Given the description of an element on the screen output the (x, y) to click on. 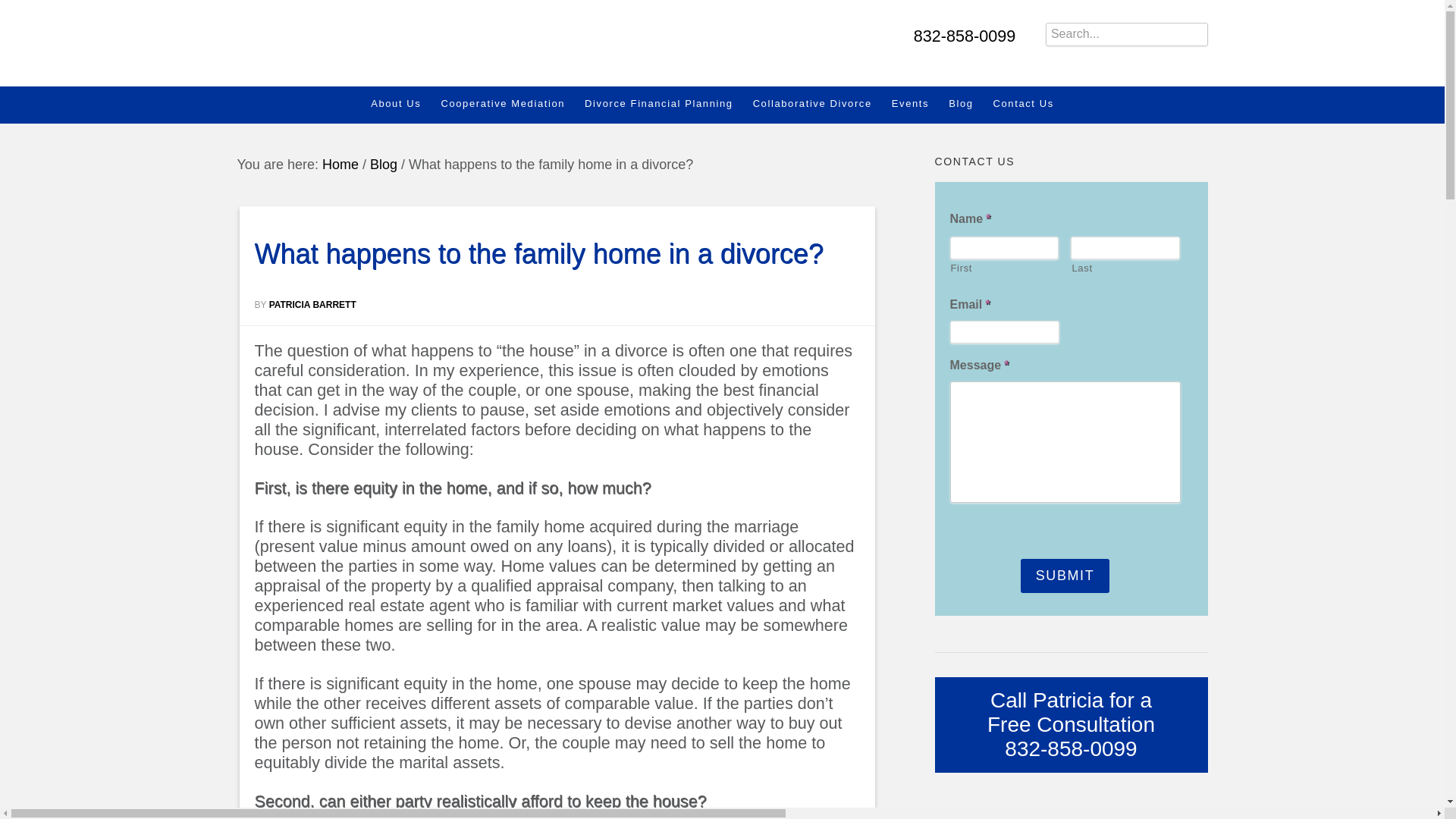
Collaborative Divorce (821, 103)
Blog (383, 164)
Events (920, 103)
832-858-0099 (964, 35)
Submit (1064, 575)
Lifetime Planning (408, 38)
Cooperative Mediation (513, 103)
Blog (970, 103)
Home (339, 164)
About Us (406, 103)
